Given the description of an element on the screen output the (x, y) to click on. 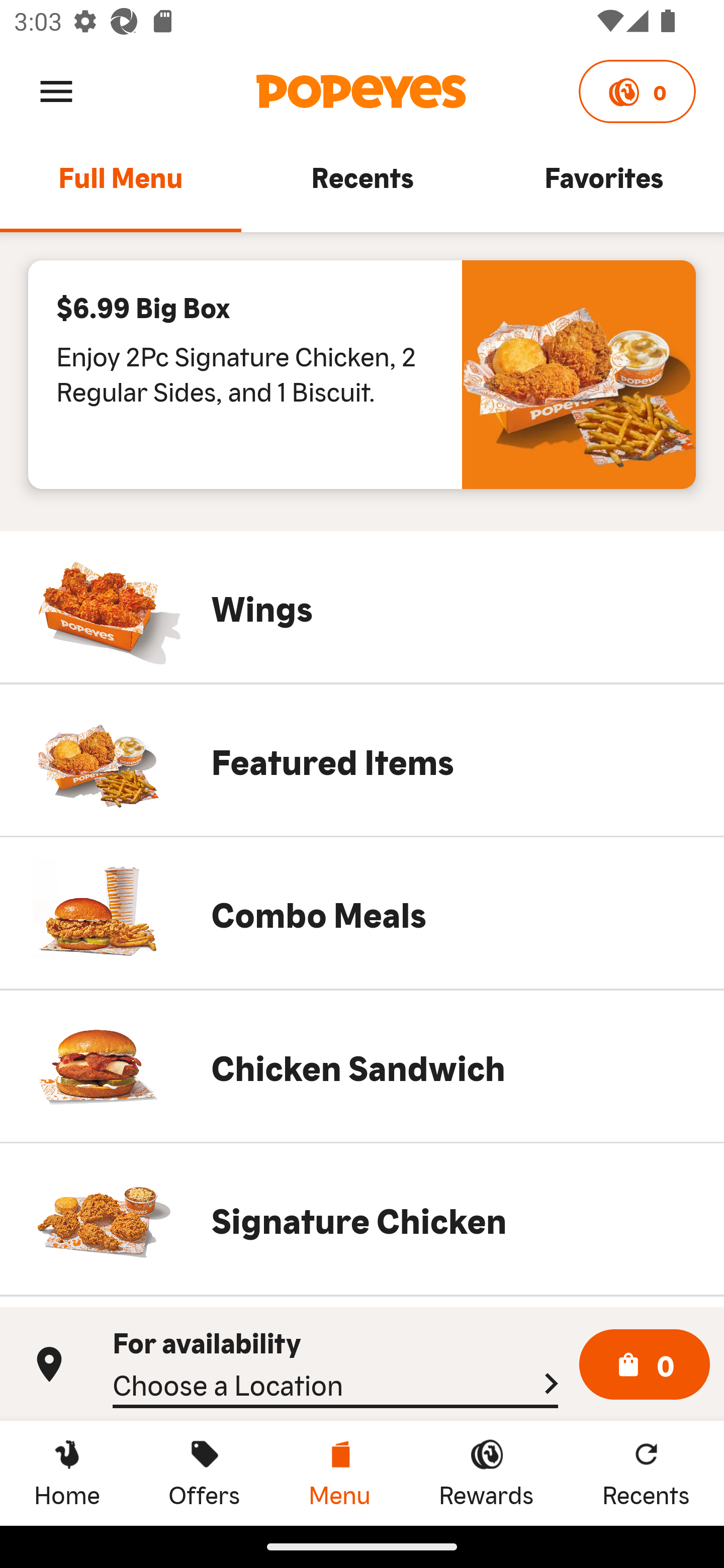
Menu  (56, 90)
0 Points 0 (636, 91)
Full Menu (120, 186)
Recents (361, 186)
Favorites (603, 186)
Wings, Wings Wings Wings (362, 606)
0 Cart total  0 (644, 1364)
Home Home Home (66, 1472)
Offers Offers Offers (203, 1472)
Menu, current page Menu Menu, current page (339, 1472)
Rewards Rewards Rewards (486, 1472)
Recents Recents Recents (646, 1472)
